Given the description of an element on the screen output the (x, y) to click on. 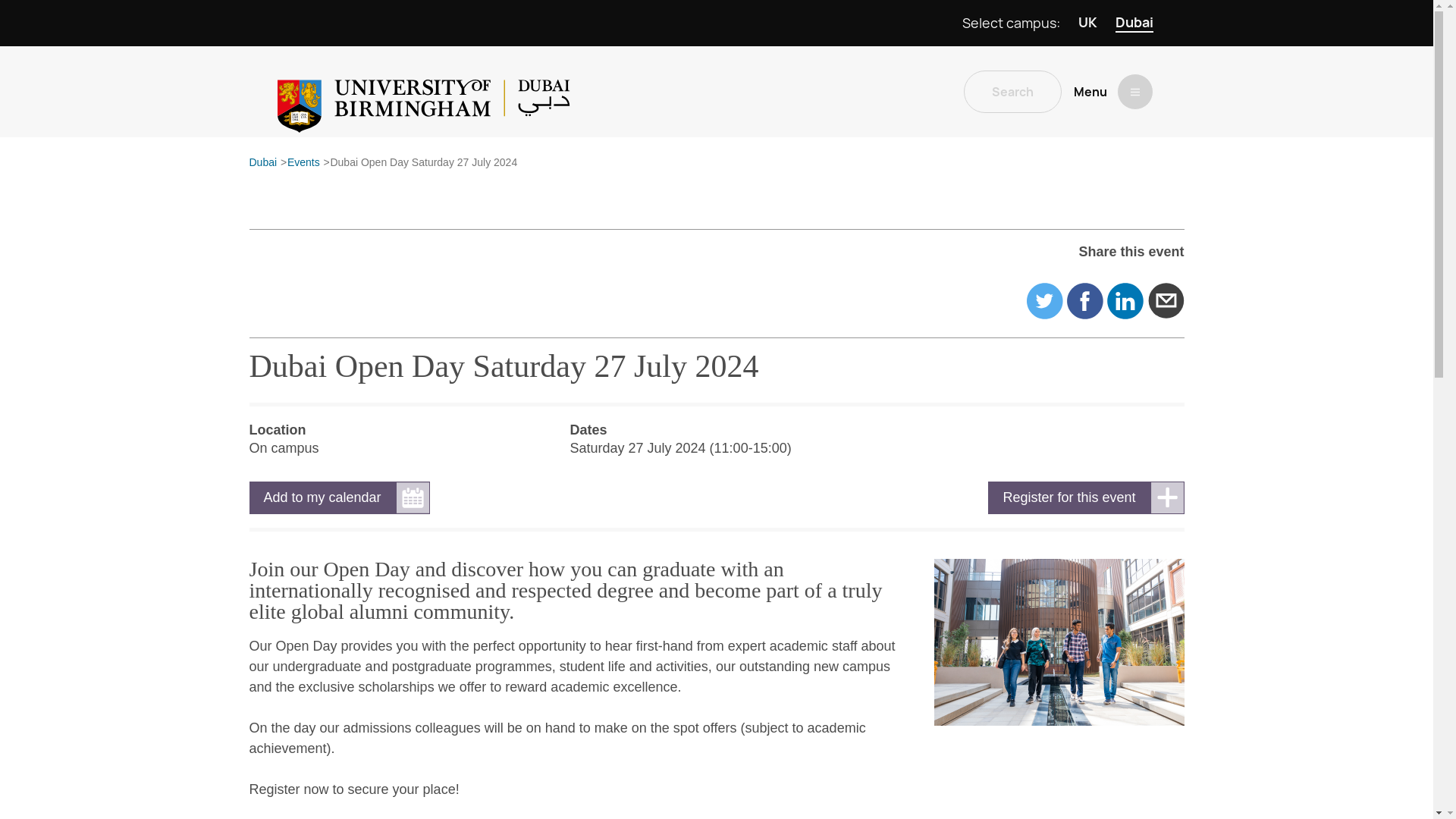
Share in LinkedIn (1124, 300)
Events (303, 163)
Register for this event (1085, 497)
Share on facebook (1085, 300)
Share on linkedin (1124, 300)
UK (1087, 23)
Share on Facebook (1085, 300)
Share on Twitter (1044, 300)
Add to my calendar (338, 497)
Search (1012, 91)
Dubai Open Day Saturday 27 July 2024 (423, 163)
Share on email (1166, 300)
Dubai (262, 163)
Dubai (1134, 23)
Share on Twitter (1044, 300)
